Given the description of an element on the screen output the (x, y) to click on. 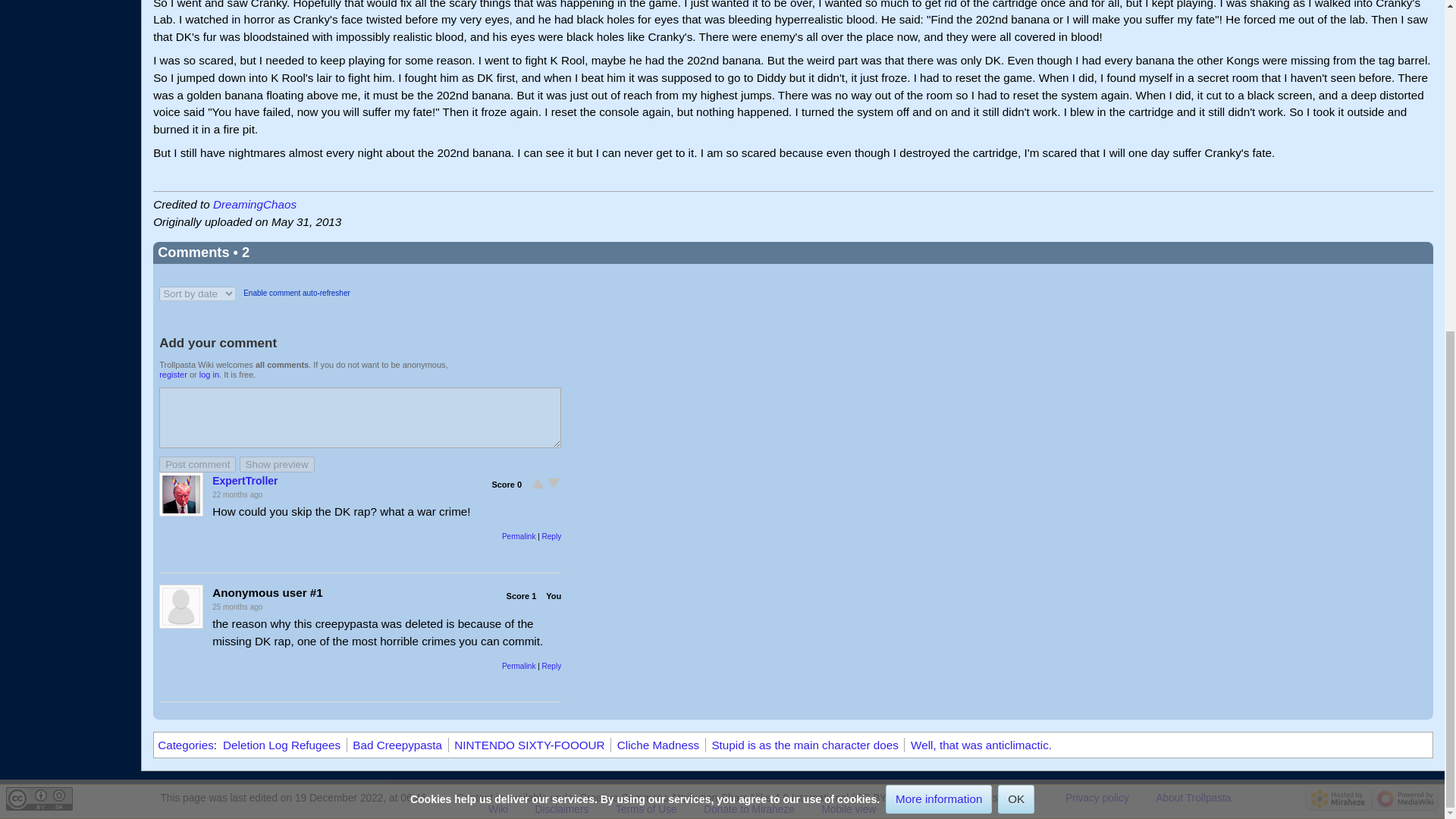
Enable comment auto-refresher (296, 293)
Special:CreateAccount (172, 374)
NINTENDO SIXTY-FOOOUR (529, 744)
Special:UserLogin (209, 374)
Categories (185, 744)
ExpertTroller (245, 480)
Reply (551, 536)
DreamingChaos (254, 204)
Cliche Madness (657, 744)
Category:Stupid is as the main character does (804, 744)
Well, that was anticlimactic. (981, 744)
OK (1015, 247)
Special:Categories (185, 744)
More information (938, 247)
Permalink (518, 665)
